Given the description of an element on the screen output the (x, y) to click on. 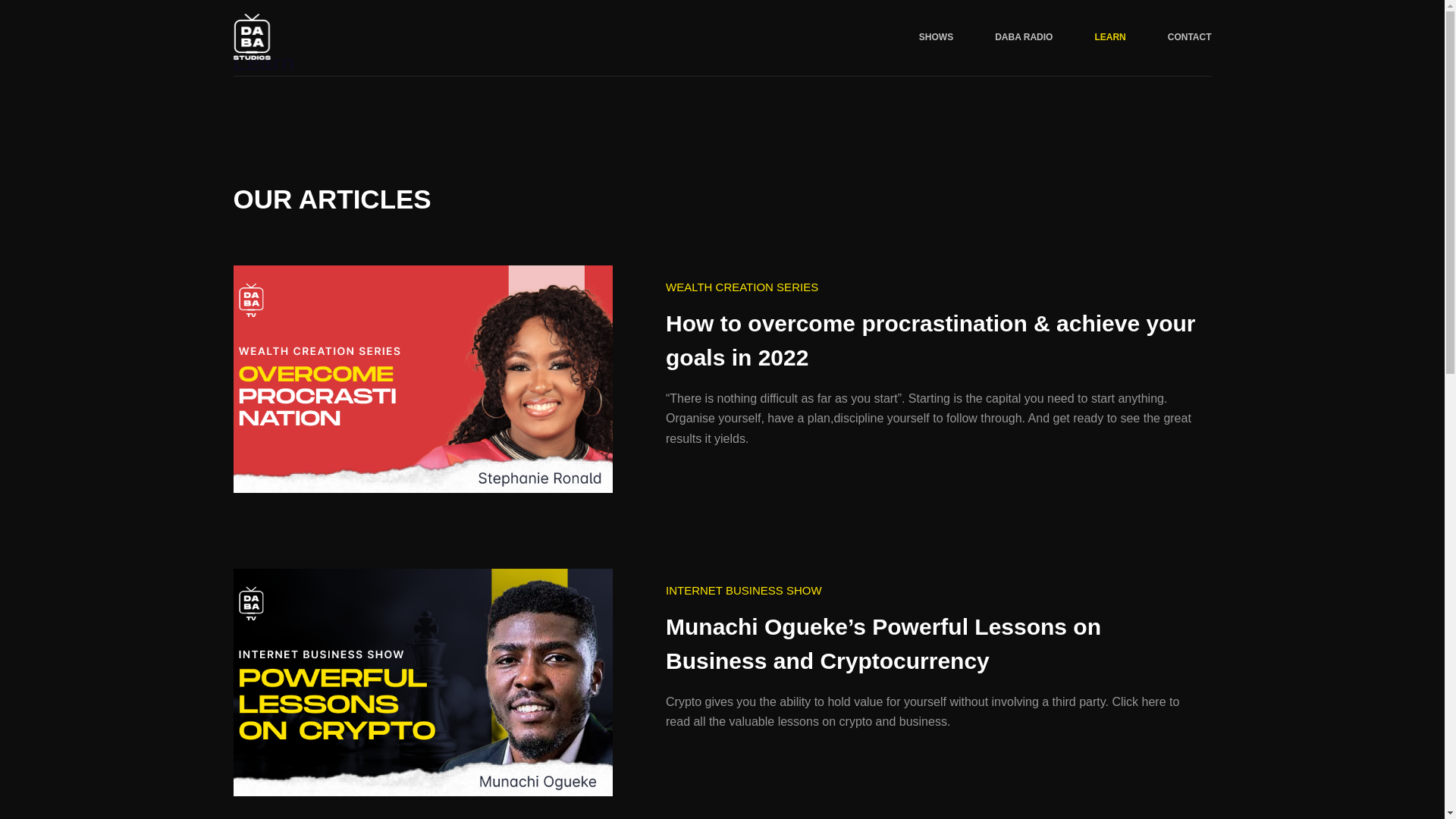
INTERNET BUSINESS SHOW (743, 590)
Learn (721, 62)
DABA RADIO (1024, 38)
Skip to content (15, 7)
LEARN (1110, 38)
WEALTH CREATION SERIES (741, 287)
SHOWS (936, 38)
